Given the description of an element on the screen output the (x, y) to click on. 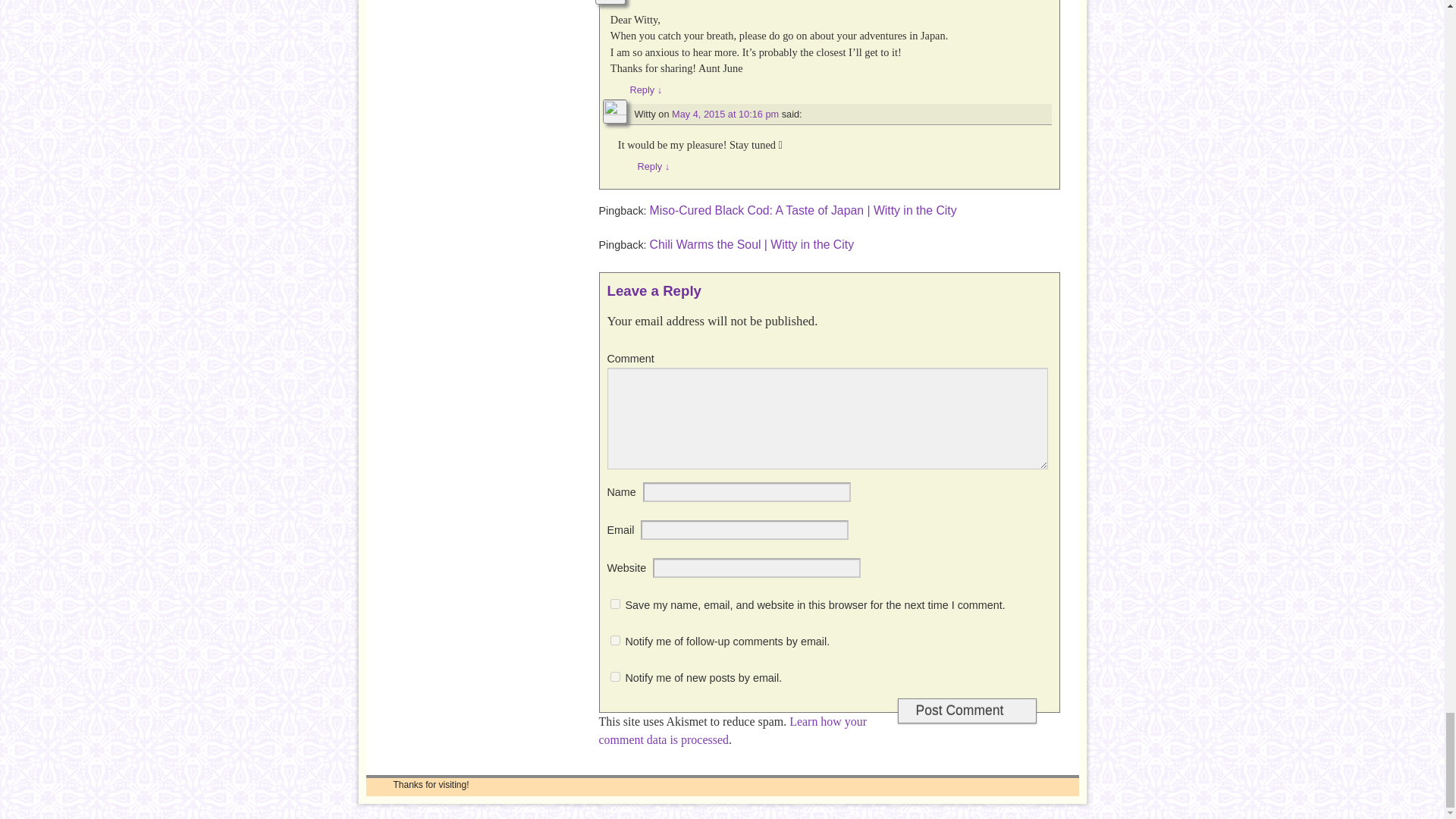
yes (615, 603)
subscribe (615, 676)
subscribe (615, 640)
Post Comment (966, 710)
